Given the description of an element on the screen output the (x, y) to click on. 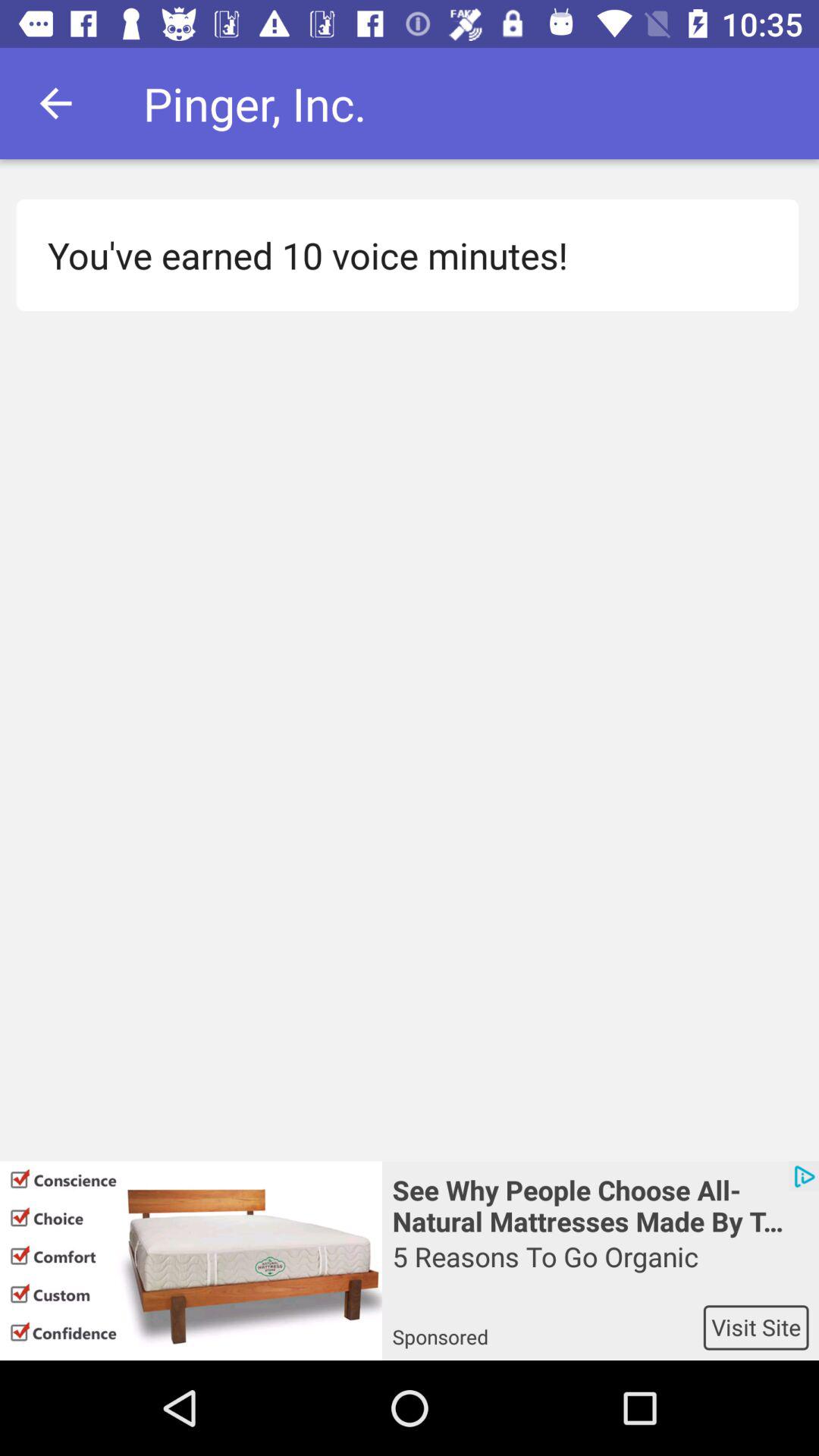
swipe to sponsored item (547, 1327)
